Given the description of an element on the screen output the (x, y) to click on. 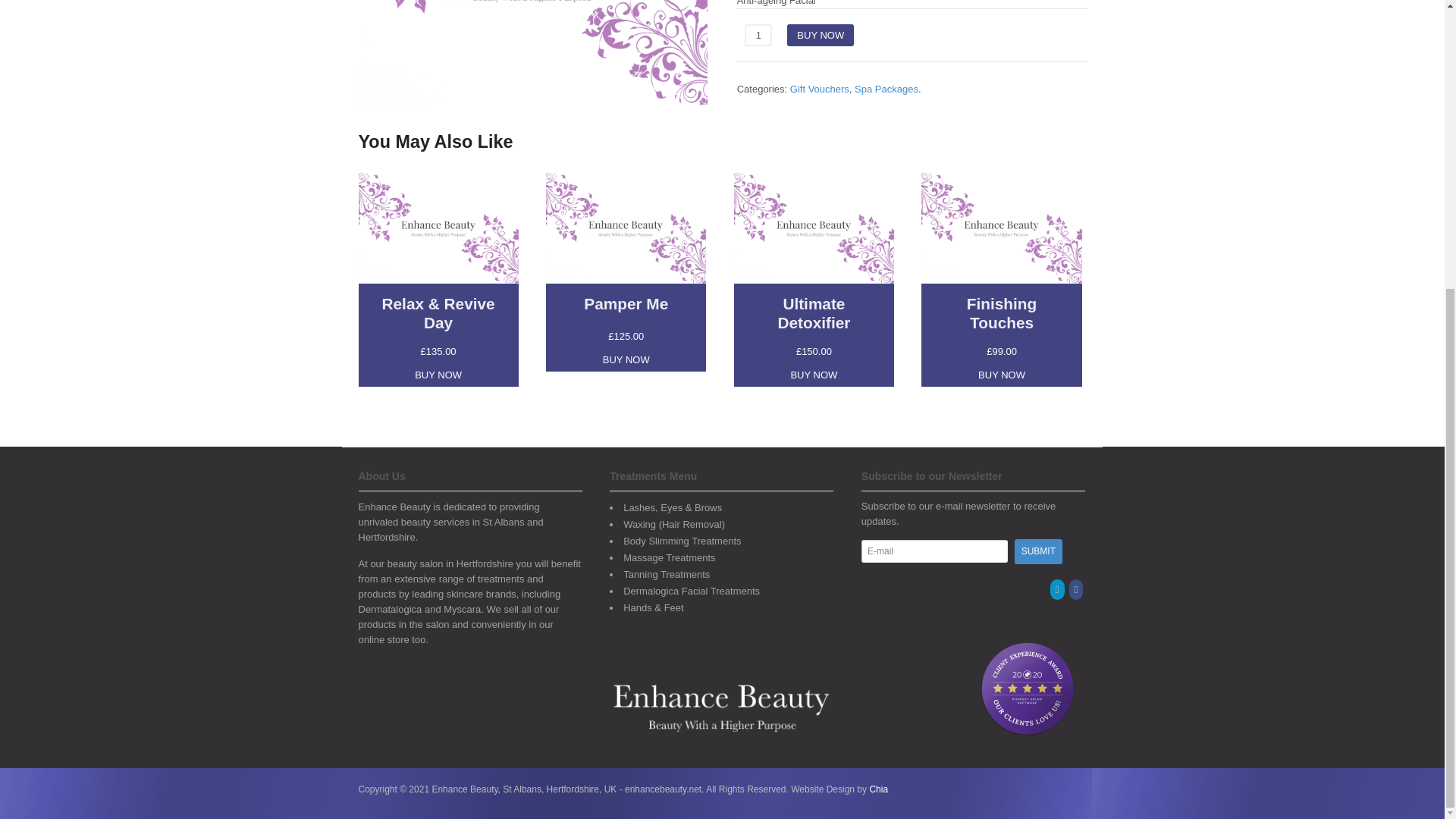
E-mail (934, 550)
Submit (1038, 551)
Twitter (1057, 589)
BUY NOW (438, 374)
BUY NOW (820, 34)
Gift Vouchers (819, 89)
1 (757, 34)
Qty (757, 34)
Facebook (1076, 589)
Spa Packages (886, 89)
